Given the description of an element on the screen output the (x, y) to click on. 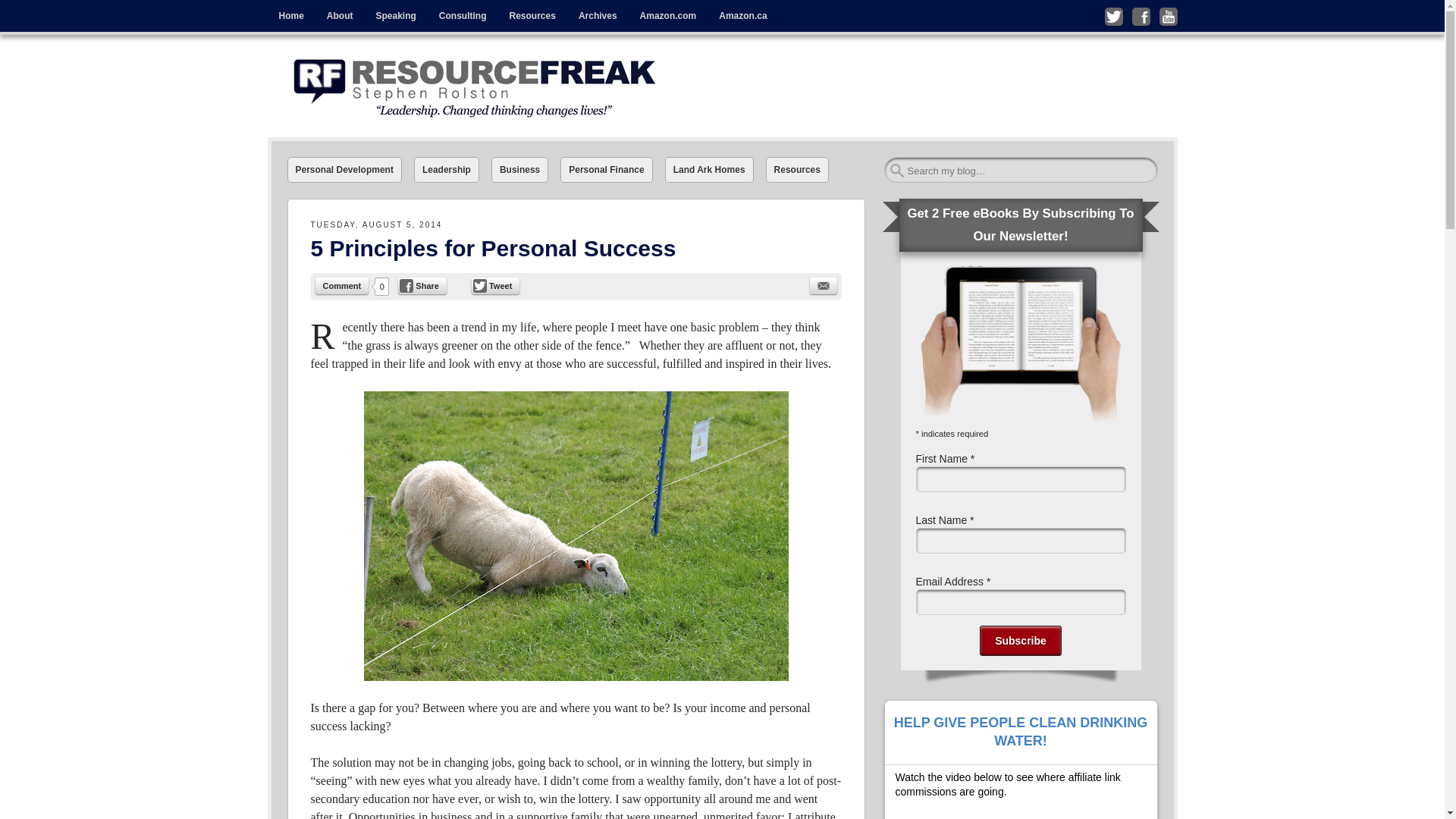
Tweet (495, 285)
About (340, 15)
Like me on Facebook (1140, 16)
Land Ark Homes (709, 169)
Skip to content (299, 10)
Search (31, 17)
Check out my YouTube channel (1167, 16)
Business (520, 169)
Personal Finance (606, 169)
Resources (532, 15)
Speaking (395, 15)
Comment (342, 285)
Share on Facebook (421, 285)
Tweet this Post (495, 285)
Go to amazon! (667, 15)
